Given the description of an element on the screen output the (x, y) to click on. 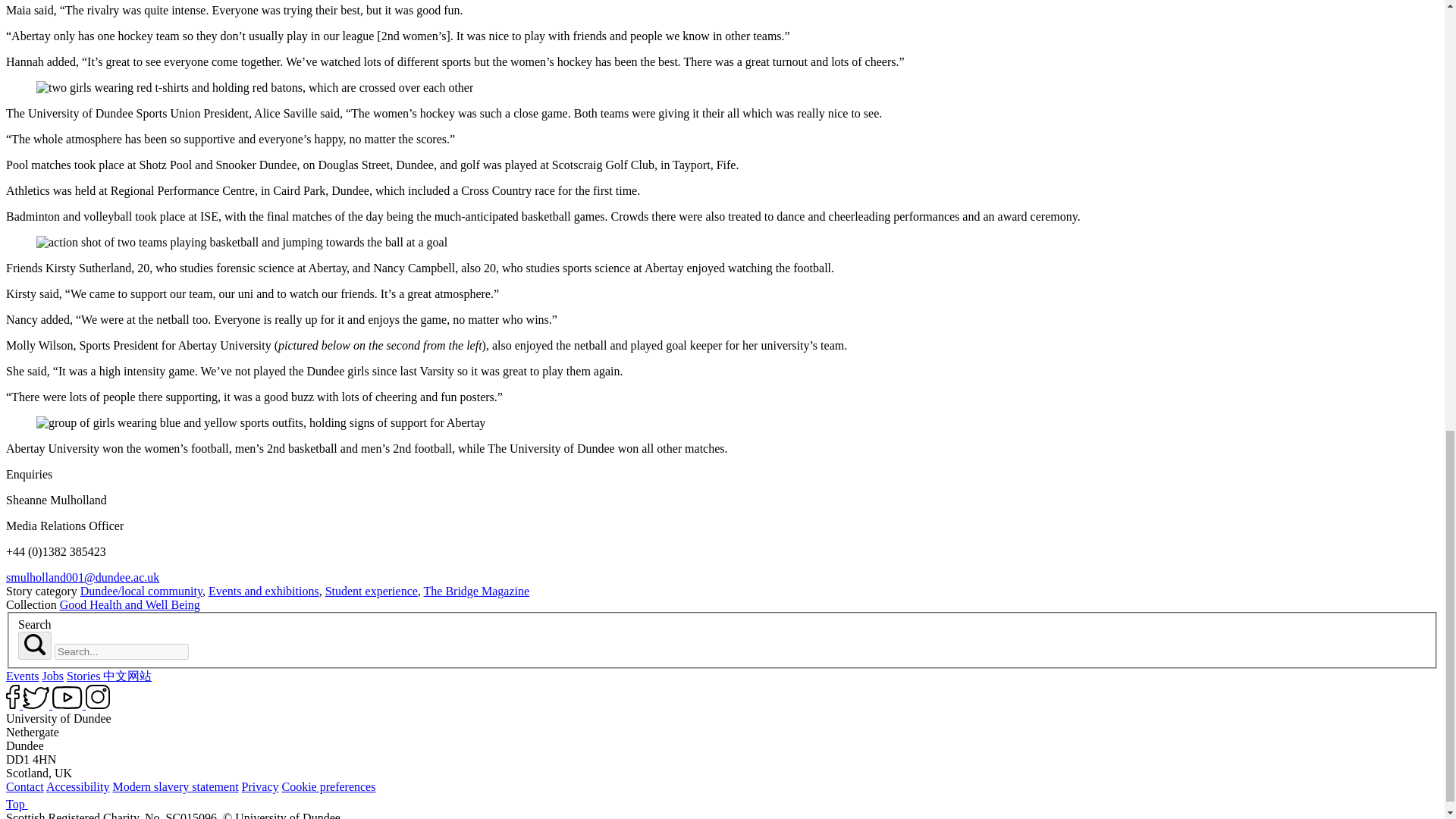
Twitter (36, 698)
Facebook (12, 696)
Youtube (67, 697)
Instagram (97, 696)
Find events that are happening at the University of Dundee (22, 675)
Search (34, 644)
Explore our Chinese language website  (127, 675)
